Given the description of an element on the screen output the (x, y) to click on. 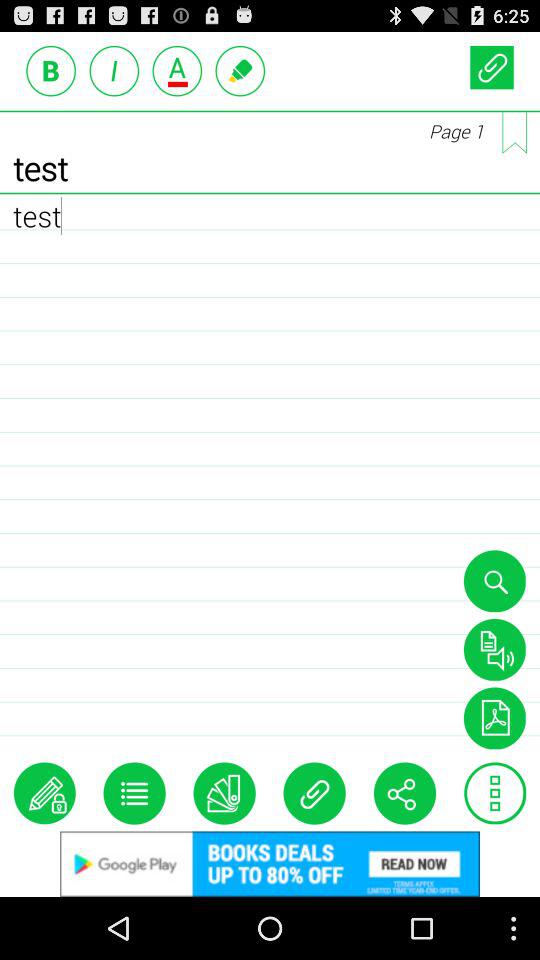
go to share (404, 793)
